Given the description of an element on the screen output the (x, y) to click on. 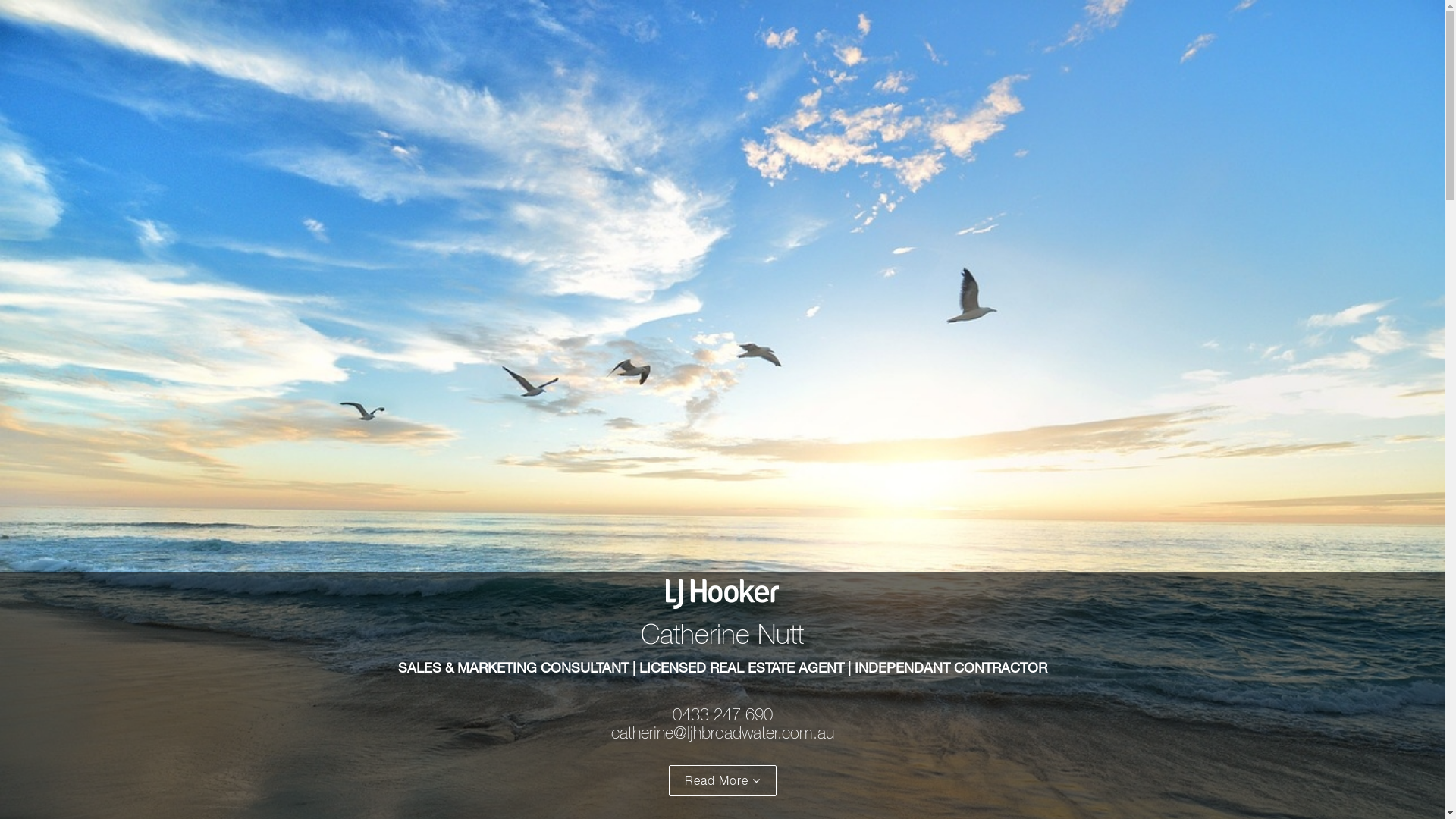
Read More Element type: text (722, 780)
LJ Hooker Element type: hover (721, 589)
